Given the description of an element on the screen output the (x, y) to click on. 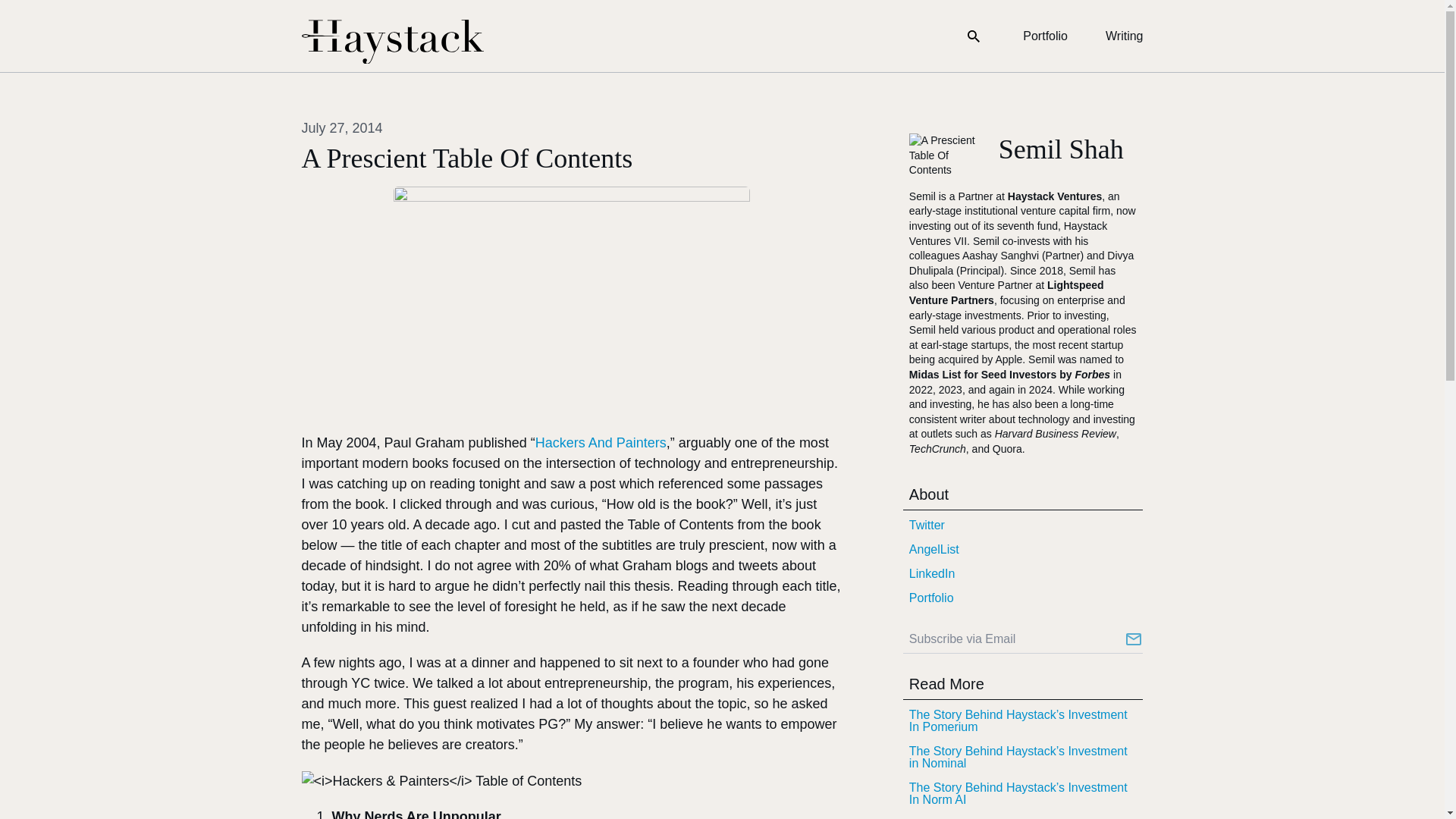
Portfolio (1045, 36)
Portfolio (1022, 598)
Hackers And Painters (600, 442)
Twitter (1022, 525)
AngelList (1022, 549)
Writing (1123, 36)
LinkedIn (1022, 573)
Semil Shah Blog (392, 41)
